Given the description of an element on the screen output the (x, y) to click on. 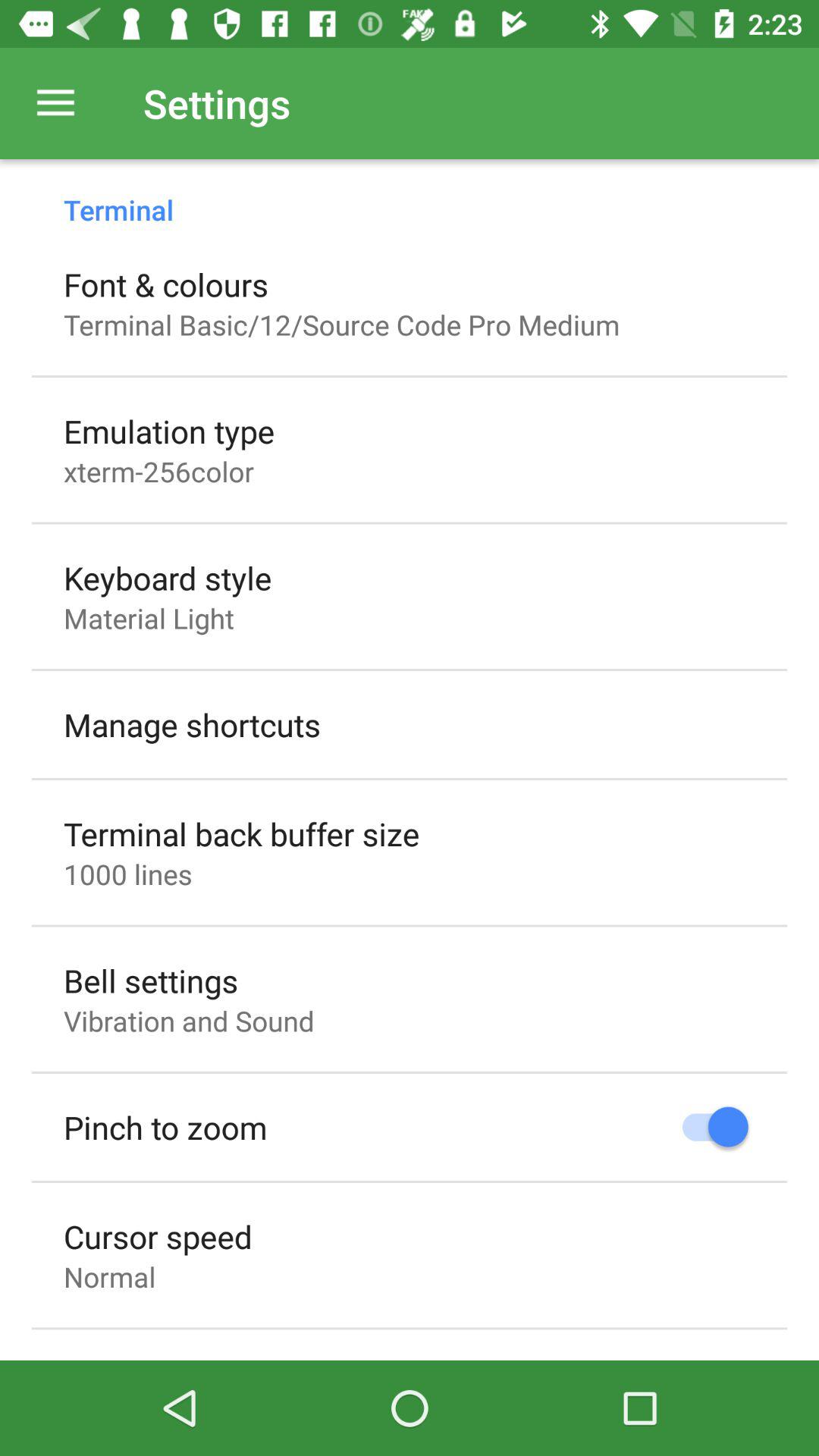
click item above the pinch to zoom icon (188, 1020)
